Given the description of an element on the screen output the (x, y) to click on. 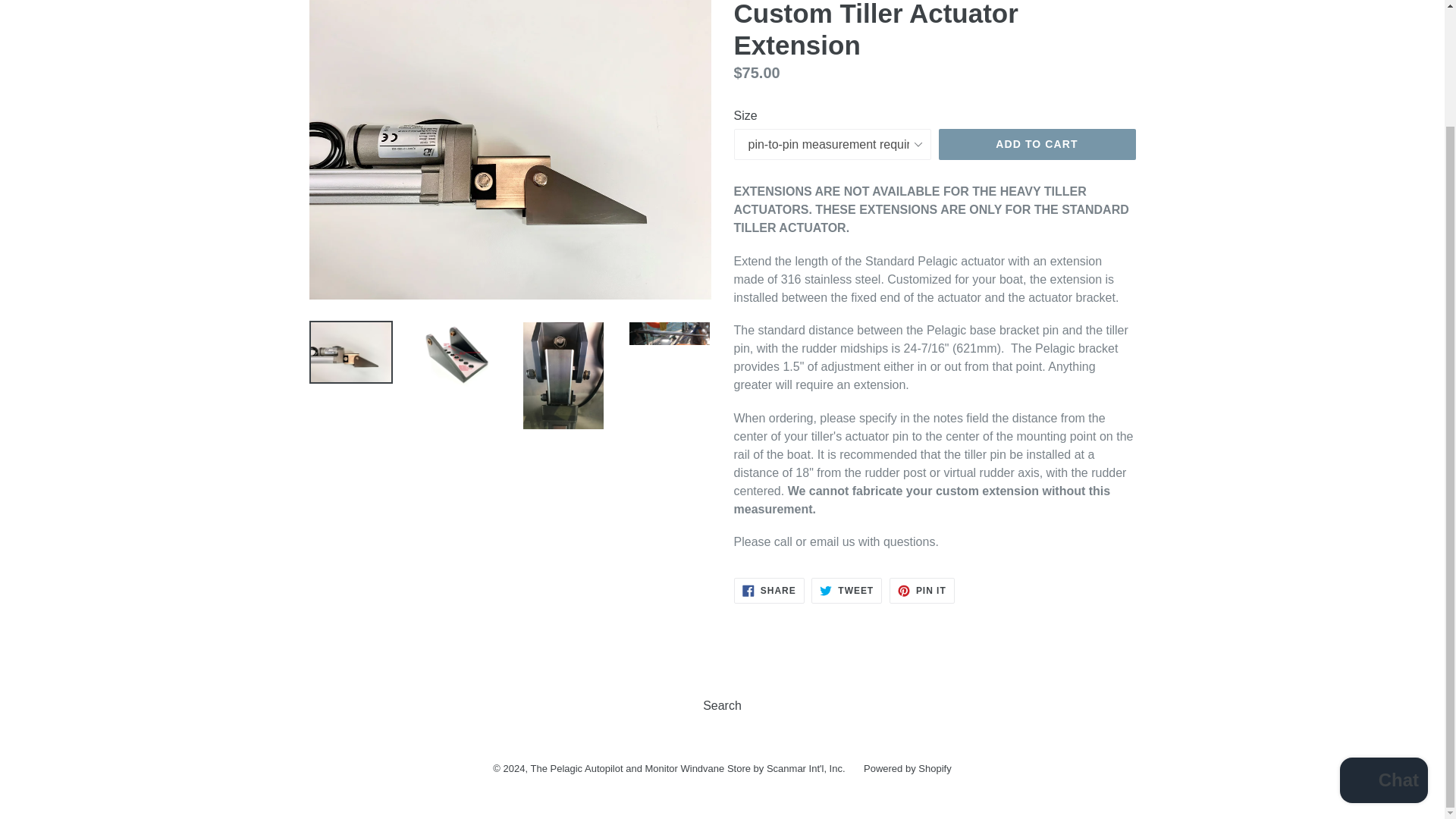
Shopify online store chat (1383, 643)
Pin on Pinterest (922, 590)
Tweet on Twitter (846, 590)
Share on Facebook (769, 590)
